Given the description of an element on the screen output the (x, y) to click on. 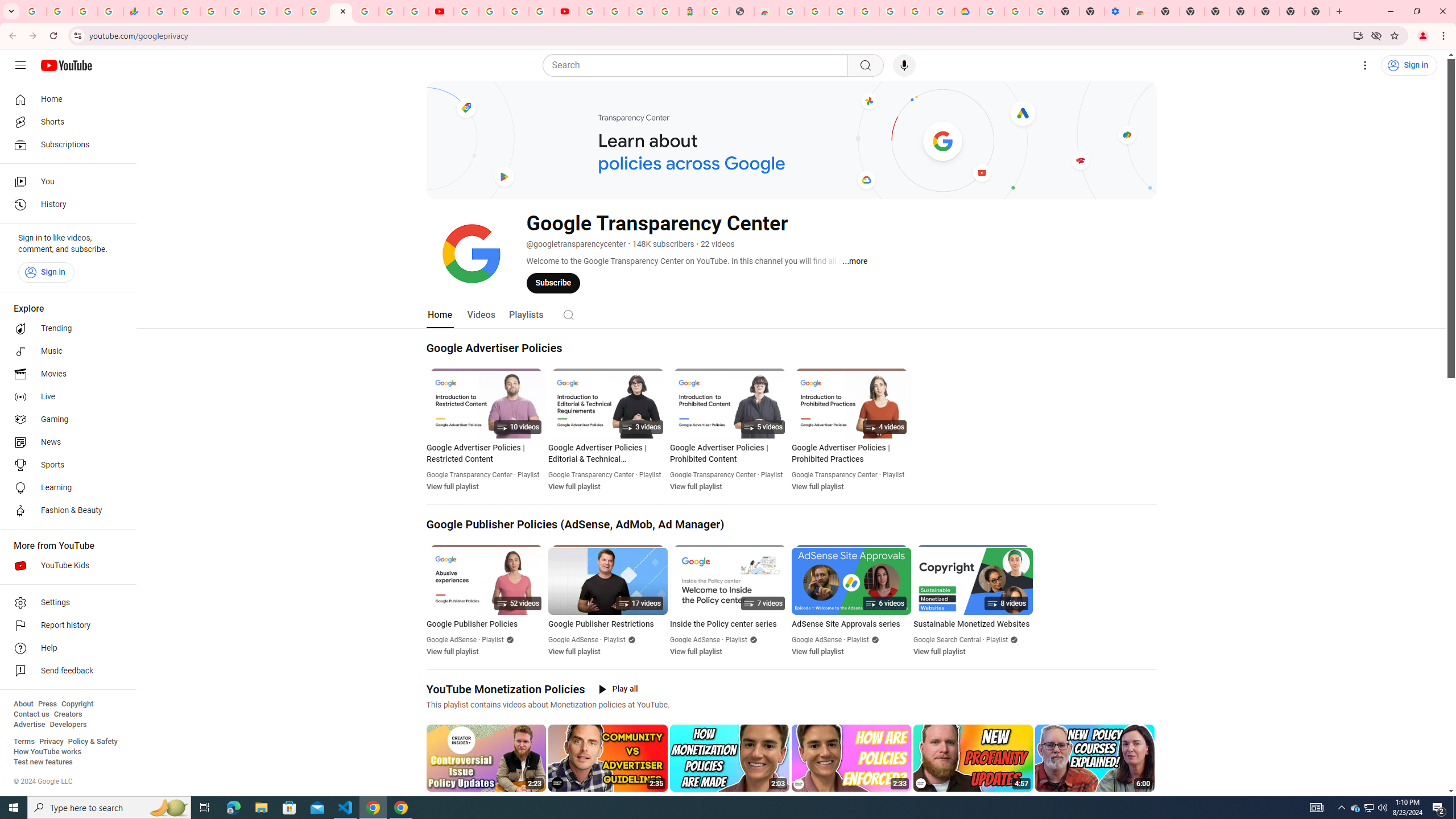
Sign in - Google Accounts (916, 11)
Google Publisher Restrictions (607, 624)
Atour Hotel - Google hotels (691, 11)
Sign in - Google Accounts (238, 11)
Gaming (64, 419)
Report history (64, 625)
Google Publisher Policies (AdSense, AdMob, Ad Manager) (575, 524)
Sustainable Monetized Websites (972, 624)
Music (64, 350)
Create your Google Account (516, 11)
